Given the description of an element on the screen output the (x, y) to click on. 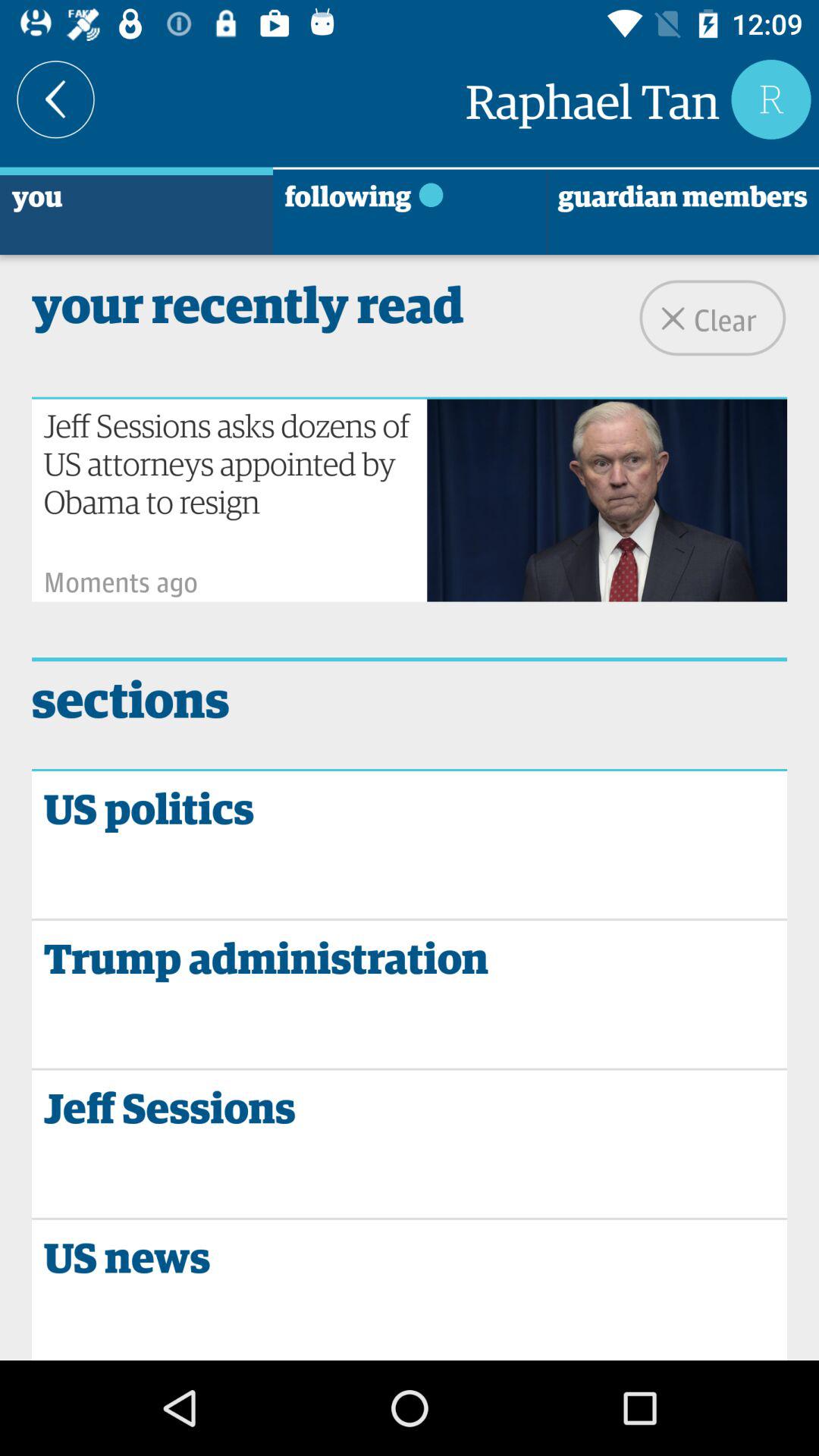
open the raphael tan icon (592, 99)
